Given the description of an element on the screen output the (x, y) to click on. 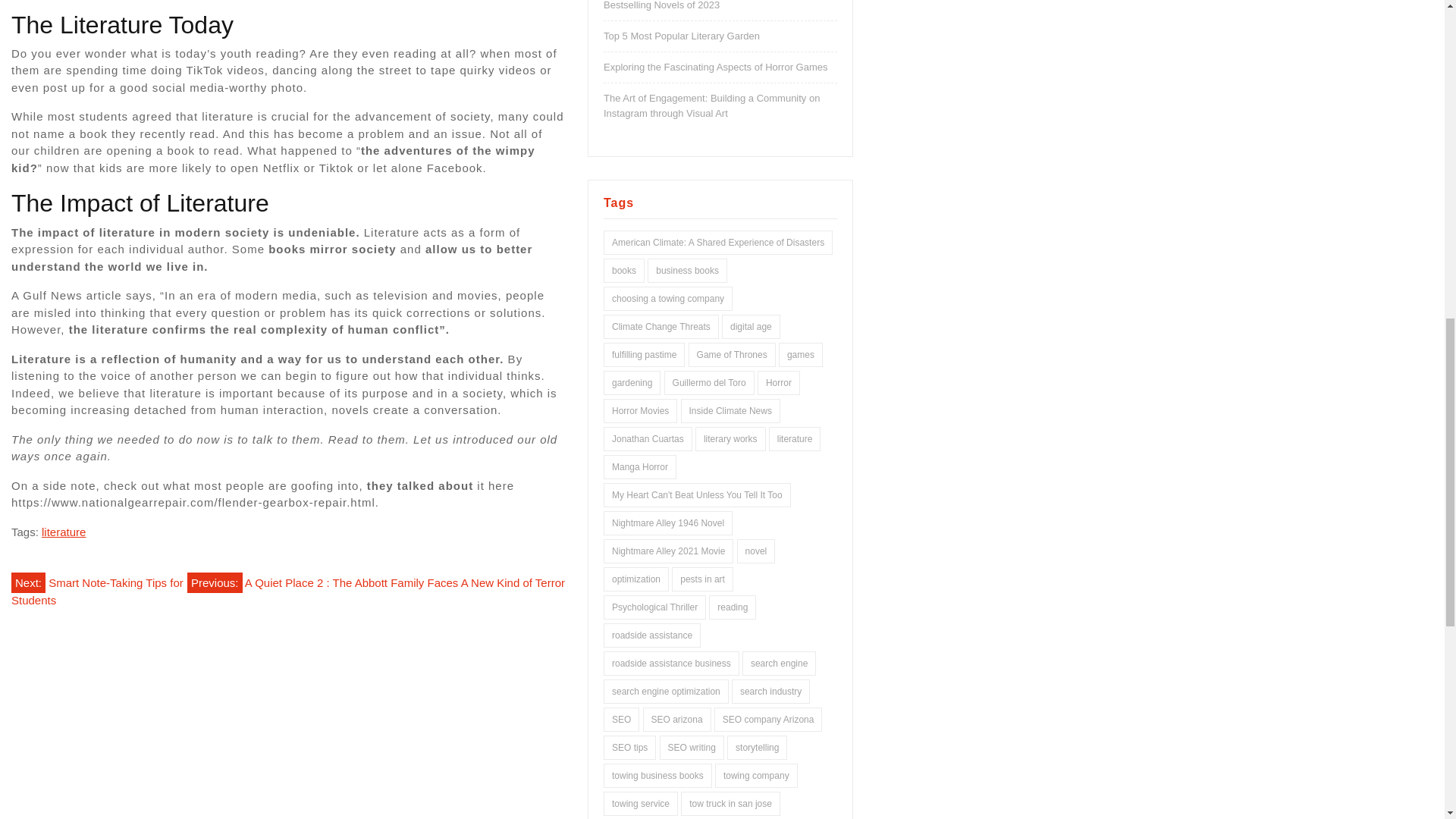
literature (63, 531)
Next: Smart Note-Taking Tips for Students (97, 589)
